Given the description of an element on the screen output the (x, y) to click on. 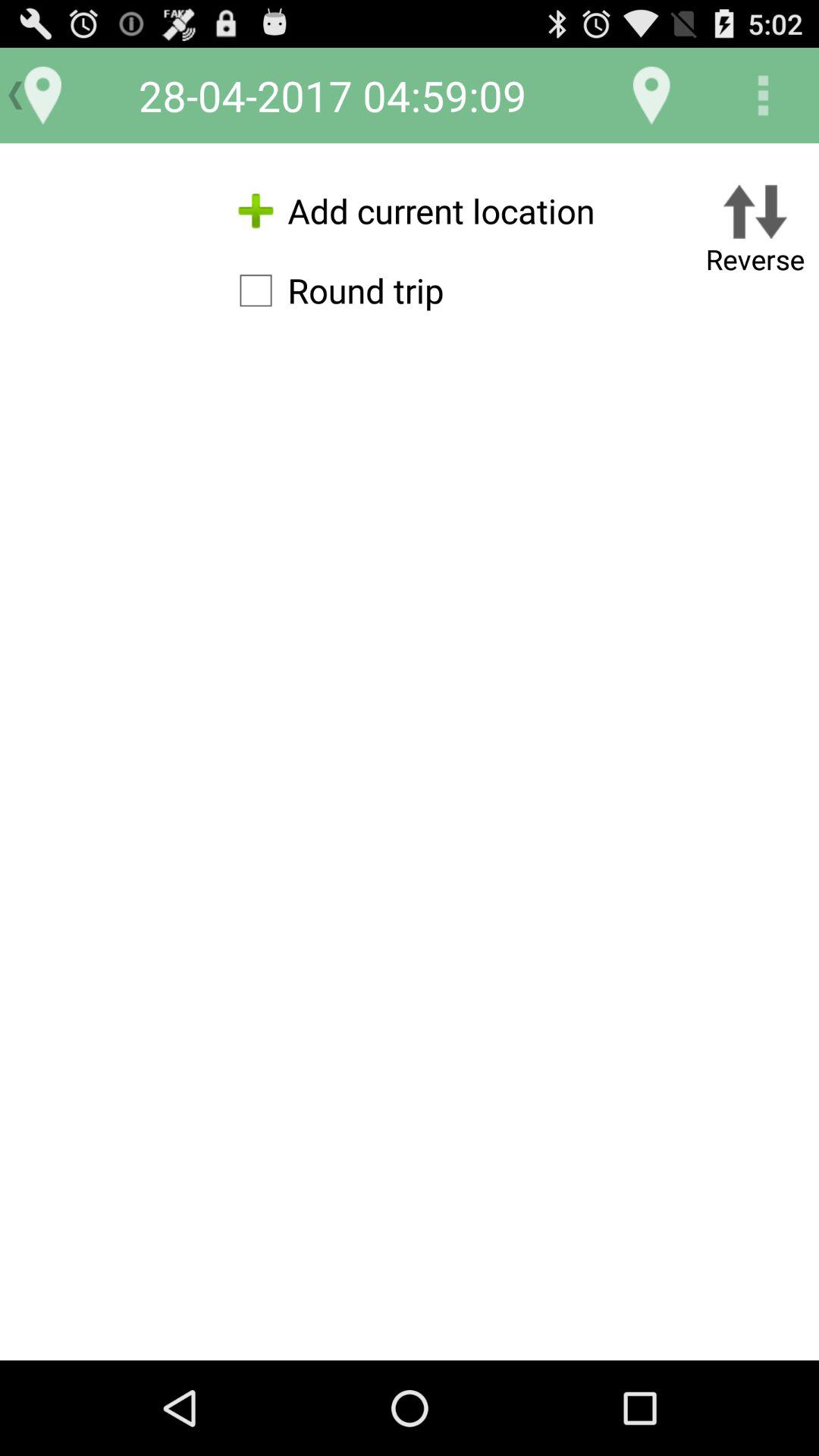
select add current location item (409, 210)
